Given the description of an element on the screen output the (x, y) to click on. 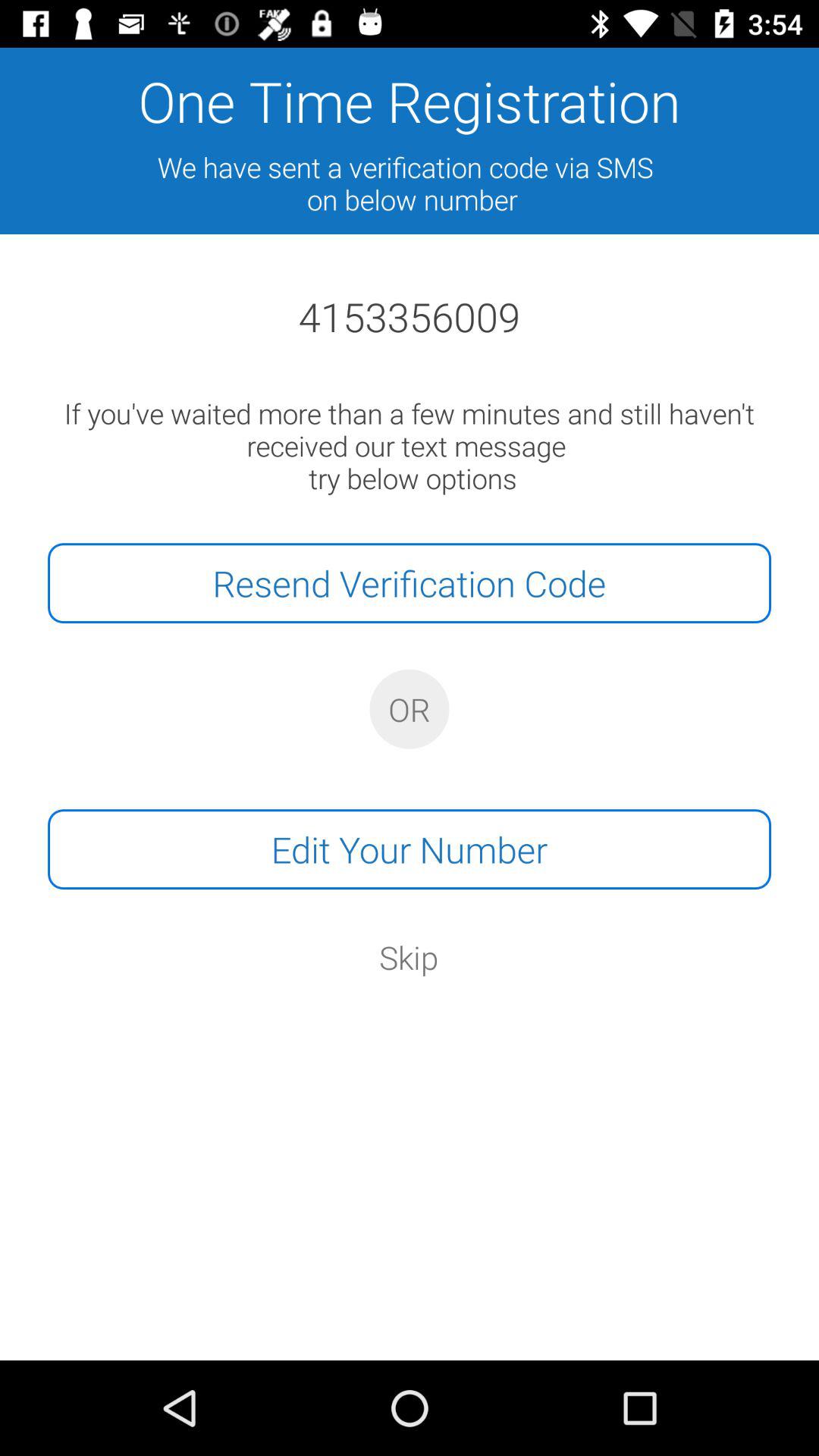
turn off the item below the or item (409, 849)
